Given the description of an element on the screen output the (x, y) to click on. 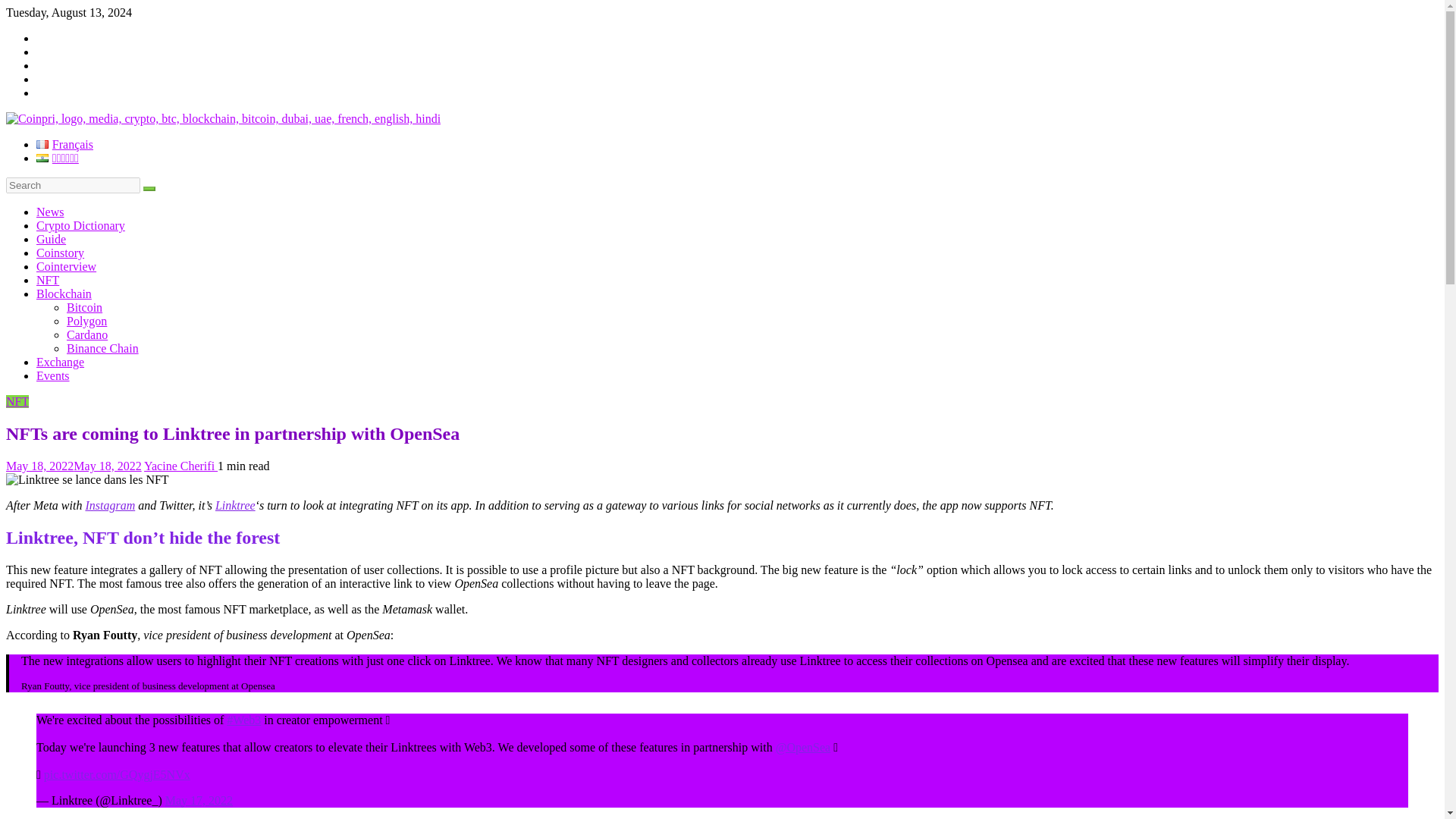
Instagram (109, 504)
NFTs are coming to Linktree in partnership with OpenSea (86, 479)
8:02 pm (73, 465)
Crypto Dictionary (80, 225)
NFT (17, 400)
Exchange (60, 361)
Bitcoin (83, 307)
Cardano (86, 334)
Yacine Cherifi (180, 465)
